Given the description of an element on the screen output the (x, y) to click on. 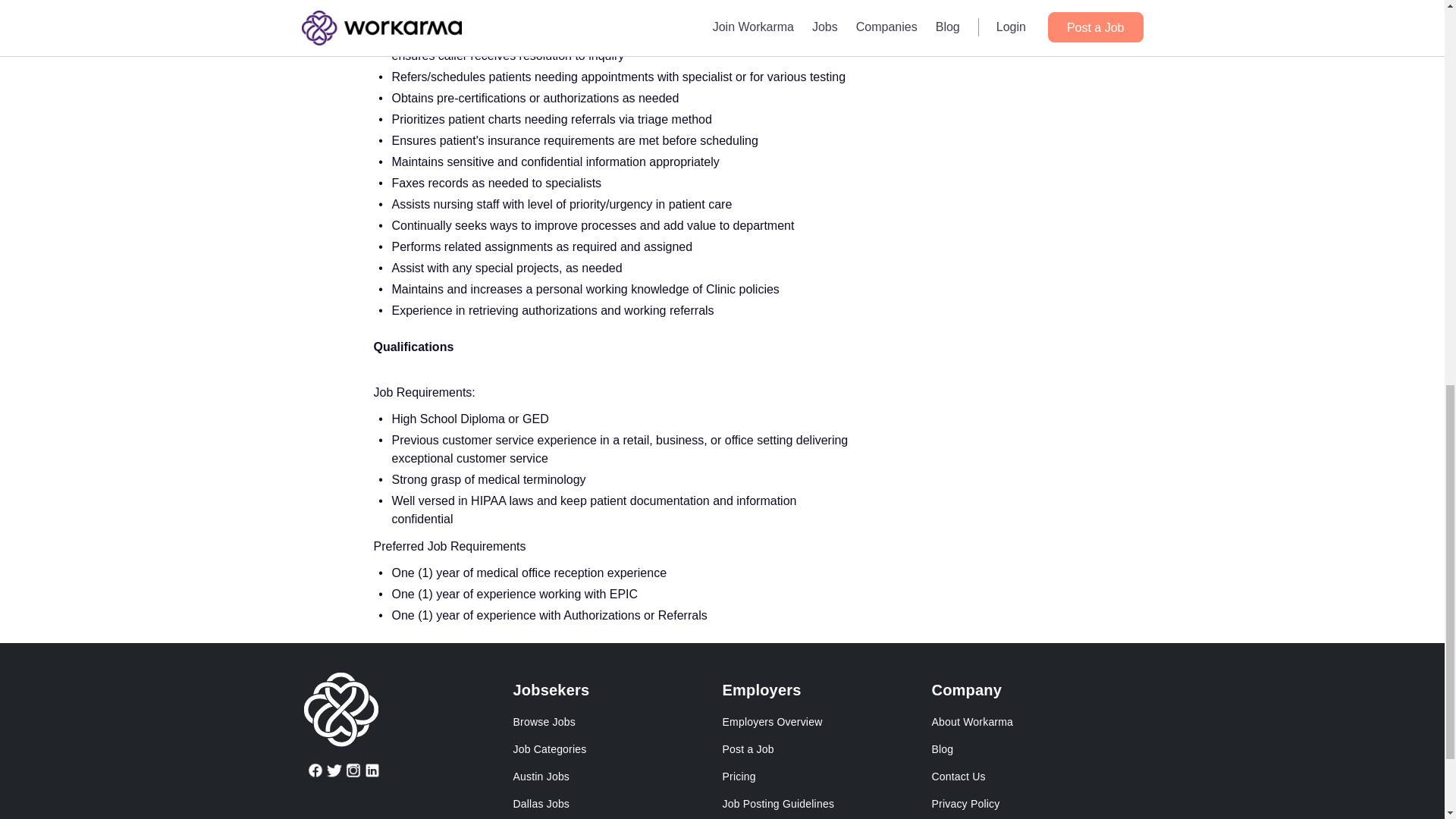
Austin Jobs (540, 776)
Pricing (738, 776)
Job Posting Guidelines (778, 803)
Post a Job (747, 748)
Employers Overview (772, 721)
Dallas Jobs (540, 803)
Browse Jobs (543, 721)
Contact Us (958, 776)
About Workarma (972, 721)
Privacy Policy (964, 803)
Job Categories (549, 748)
Blog (942, 748)
